Given the description of an element on the screen output the (x, y) to click on. 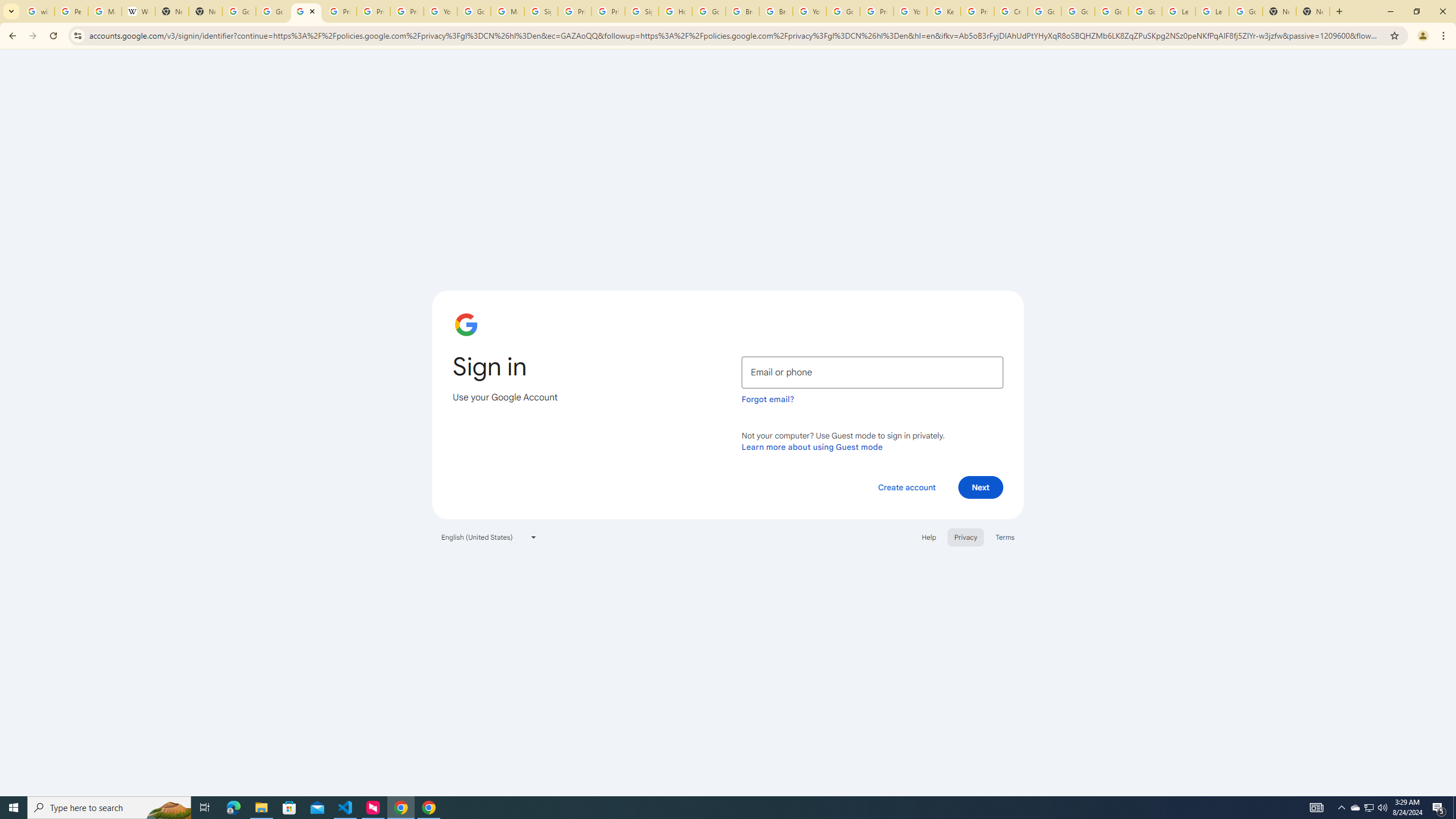
Privacy (965, 536)
Sign in - Google Accounts (305, 11)
Google Drive: Sign-in (272, 11)
Personalization & Google Search results - Google Search Help (71, 11)
Learn more about using Guest mode (812, 446)
Google Account Help (474, 11)
YouTube (809, 11)
